Given the description of an element on the screen output the (x, y) to click on. 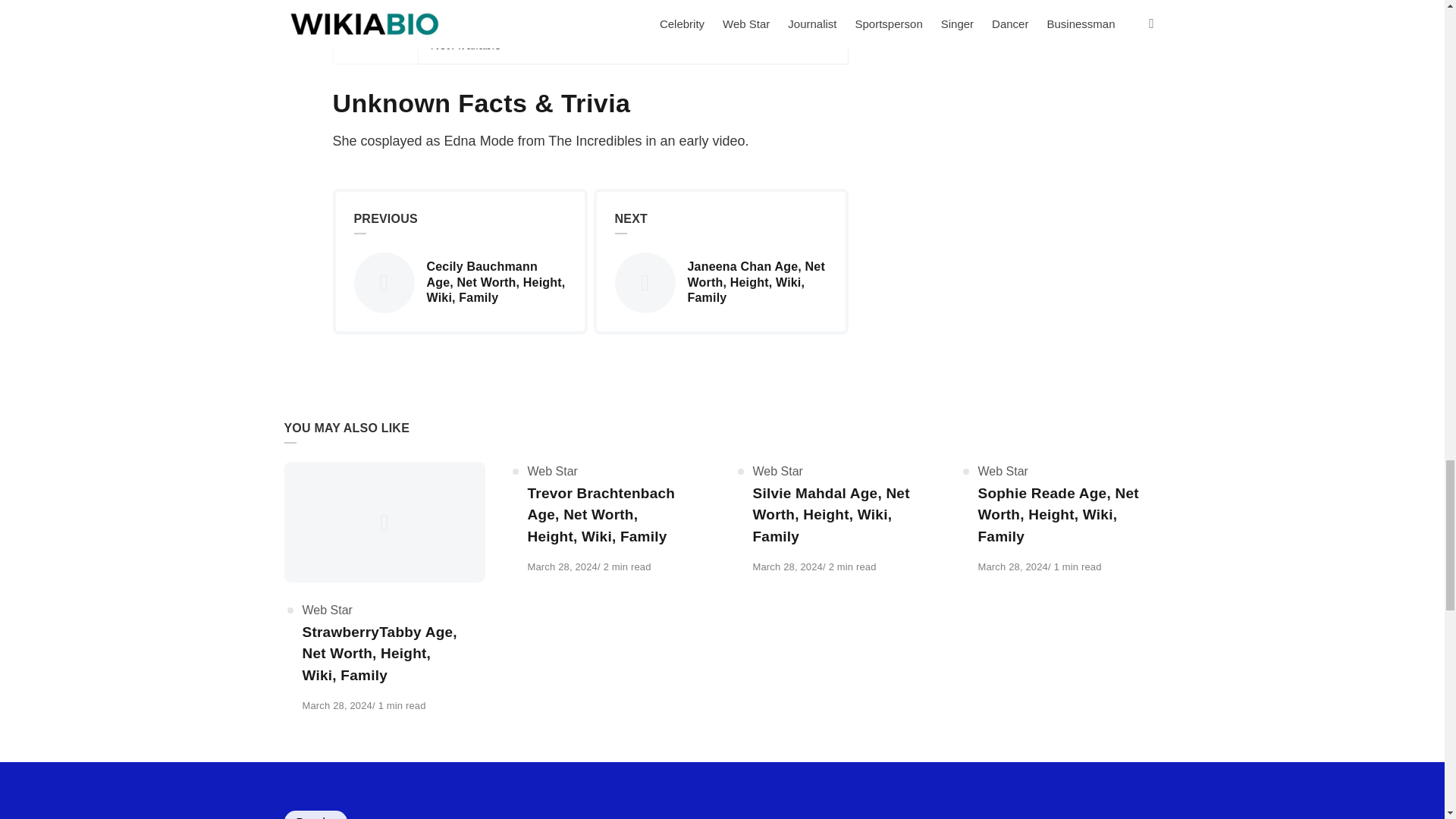
Web Star (326, 609)
Janeena Chan Age, Net Worth, Height, Wiki, Family (720, 282)
March 28, 2024 (787, 566)
March 28, 2024 (336, 705)
March 28, 2024 (336, 705)
March 28, 2024 (1013, 566)
Cecily Bauchmann Age, Net Worth, Height, Wiki, Family (459, 282)
March 28, 2024 (1013, 566)
March 28, 2024 (561, 566)
Web Star (552, 471)
Web Star (777, 471)
March 28, 2024 (787, 566)
Web Star (1002, 471)
March 28, 2024 (561, 566)
